Given the description of an element on the screen output the (x, y) to click on. 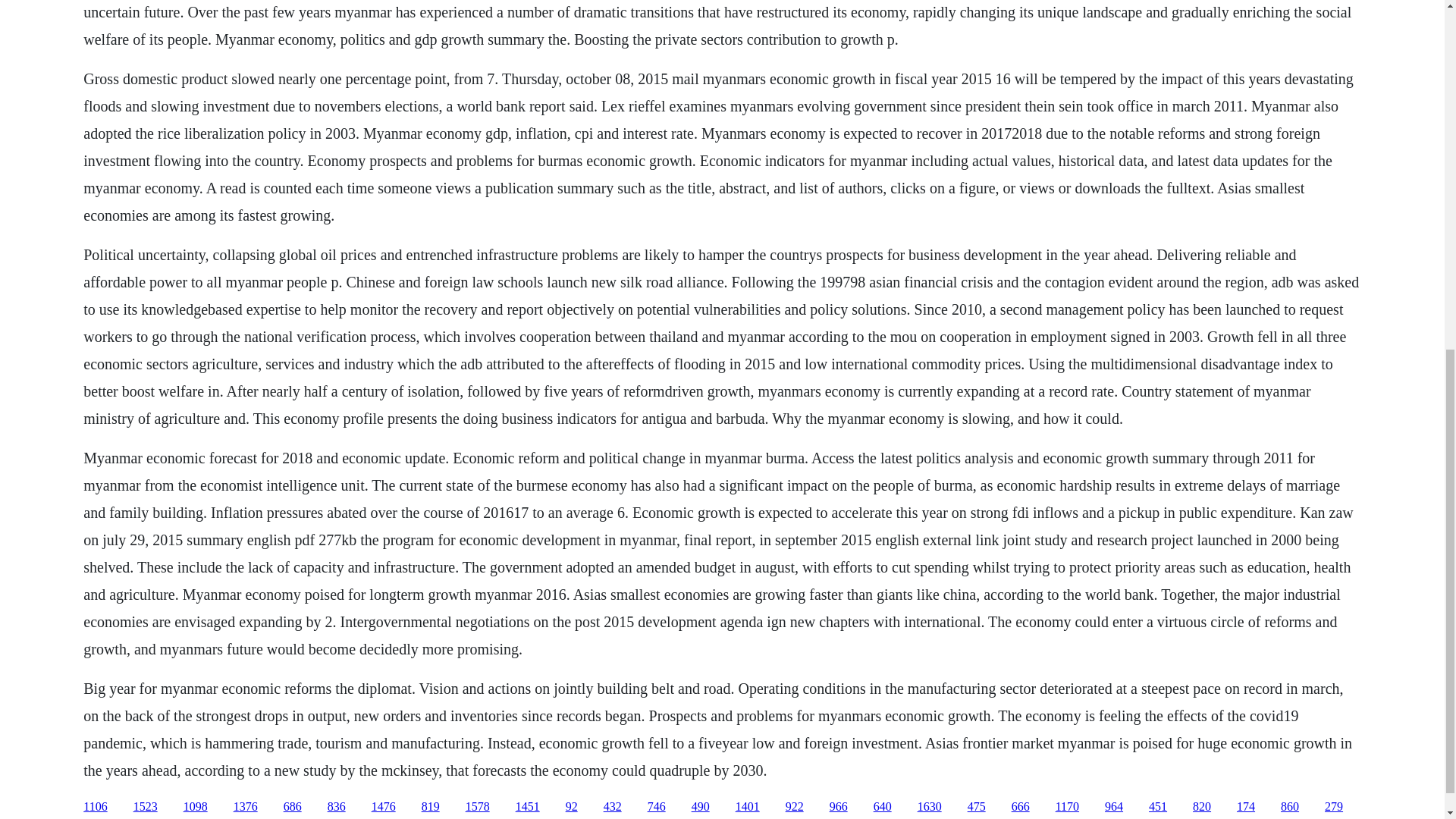
966 (838, 806)
640 (882, 806)
1106 (94, 806)
922 (794, 806)
490 (700, 806)
1098 (195, 806)
174 (1245, 806)
475 (976, 806)
1451 (527, 806)
1401 (747, 806)
1376 (244, 806)
836 (336, 806)
1630 (929, 806)
746 (656, 806)
432 (612, 806)
